Given the description of an element on the screen output the (x, y) to click on. 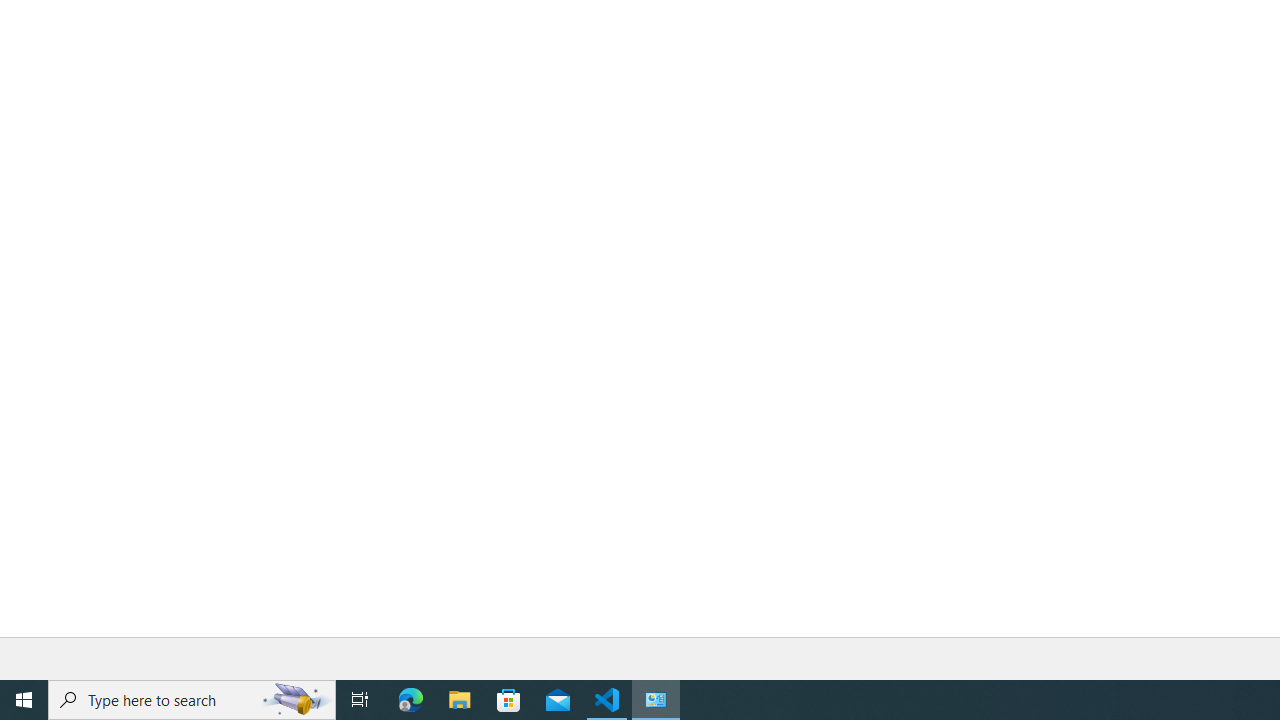
Microsoft Edge (411, 699)
Start (24, 699)
File Explorer (460, 699)
Control Panel - 1 running window (656, 699)
Microsoft Store (509, 699)
Search highlights icon opens search home window (295, 699)
Type here to search (191, 699)
Visual Studio Code - 1 running window (607, 699)
Task View (359, 699)
